Given the description of an element on the screen output the (x, y) to click on. 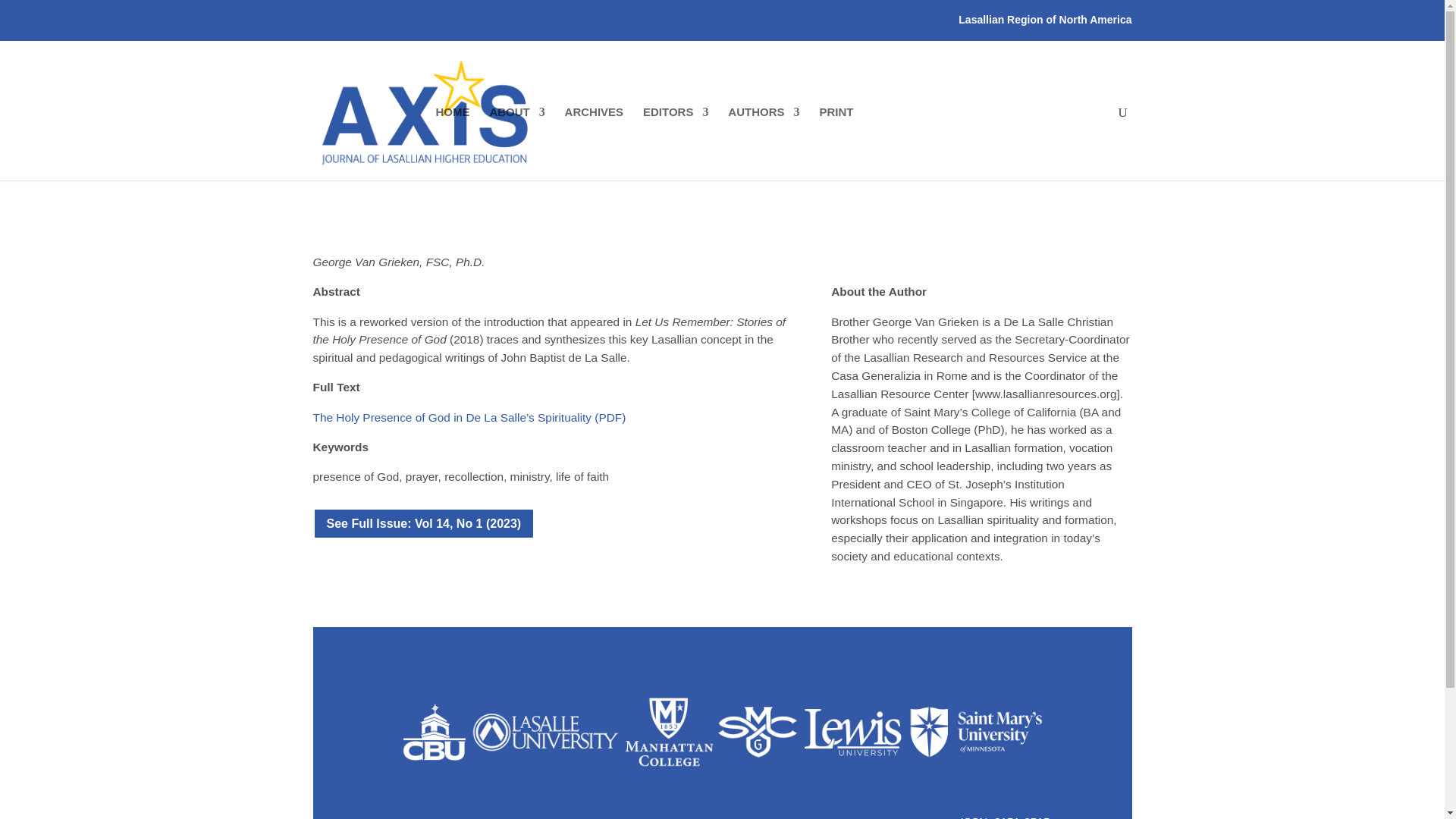
HOME (451, 124)
EDITORS (675, 124)
Lasallian Region of North America (1044, 23)
ABOUT (516, 124)
PRINT (835, 124)
ARCHIVES (594, 124)
AUTHORS (763, 124)
Footer-hi-res (721, 730)
